Given the description of an element on the screen output the (x, y) to click on. 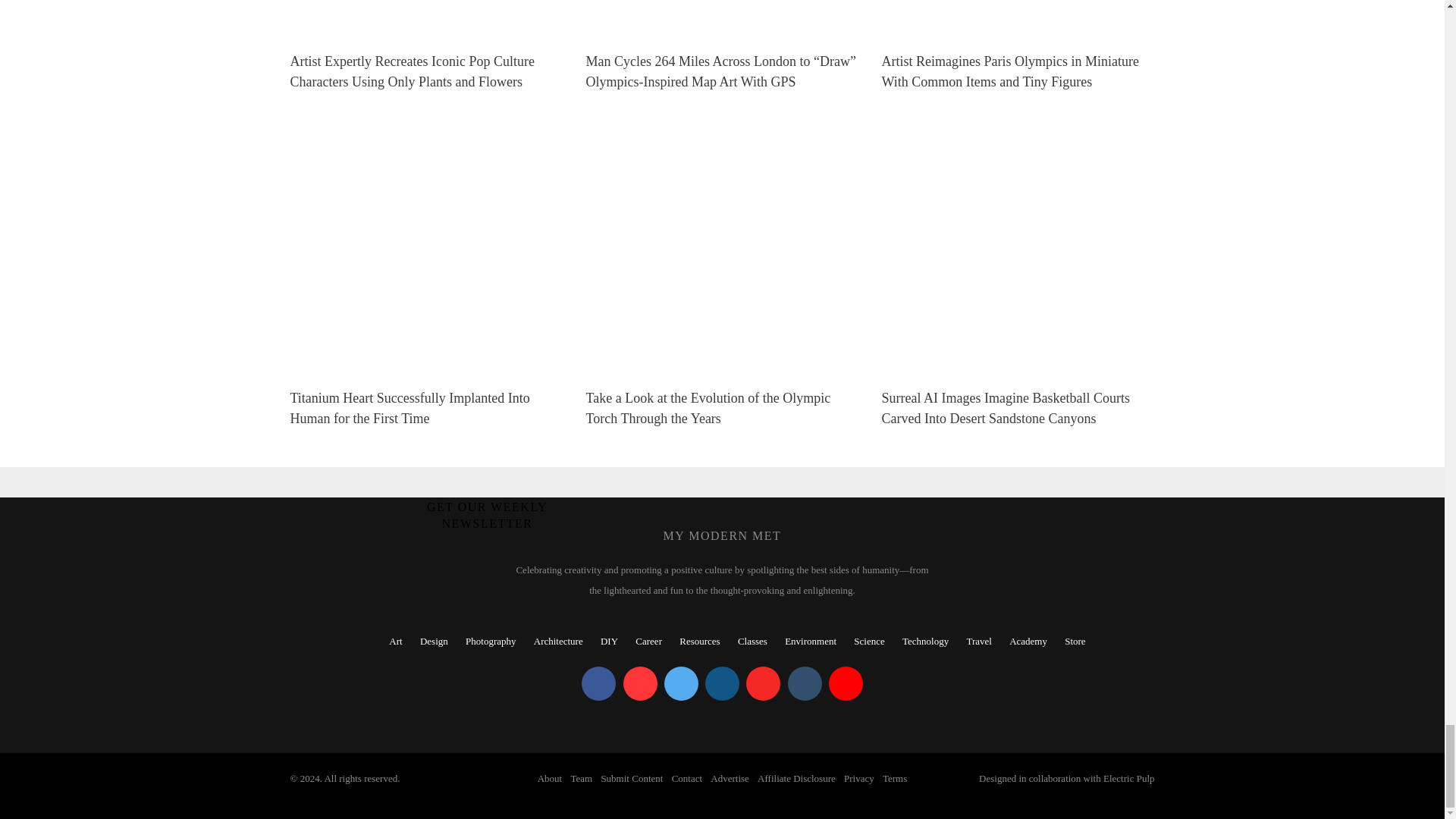
My Modern Met on Tumblr (804, 683)
My Modern Met on Twitter (680, 683)
My Modern Met on Instagram (721, 683)
My Modern Met on YouTube (845, 683)
My Modern Met on Facebook (597, 683)
My Modern Met on Pinterest (640, 683)
